Given the description of an element on the screen output the (x, y) to click on. 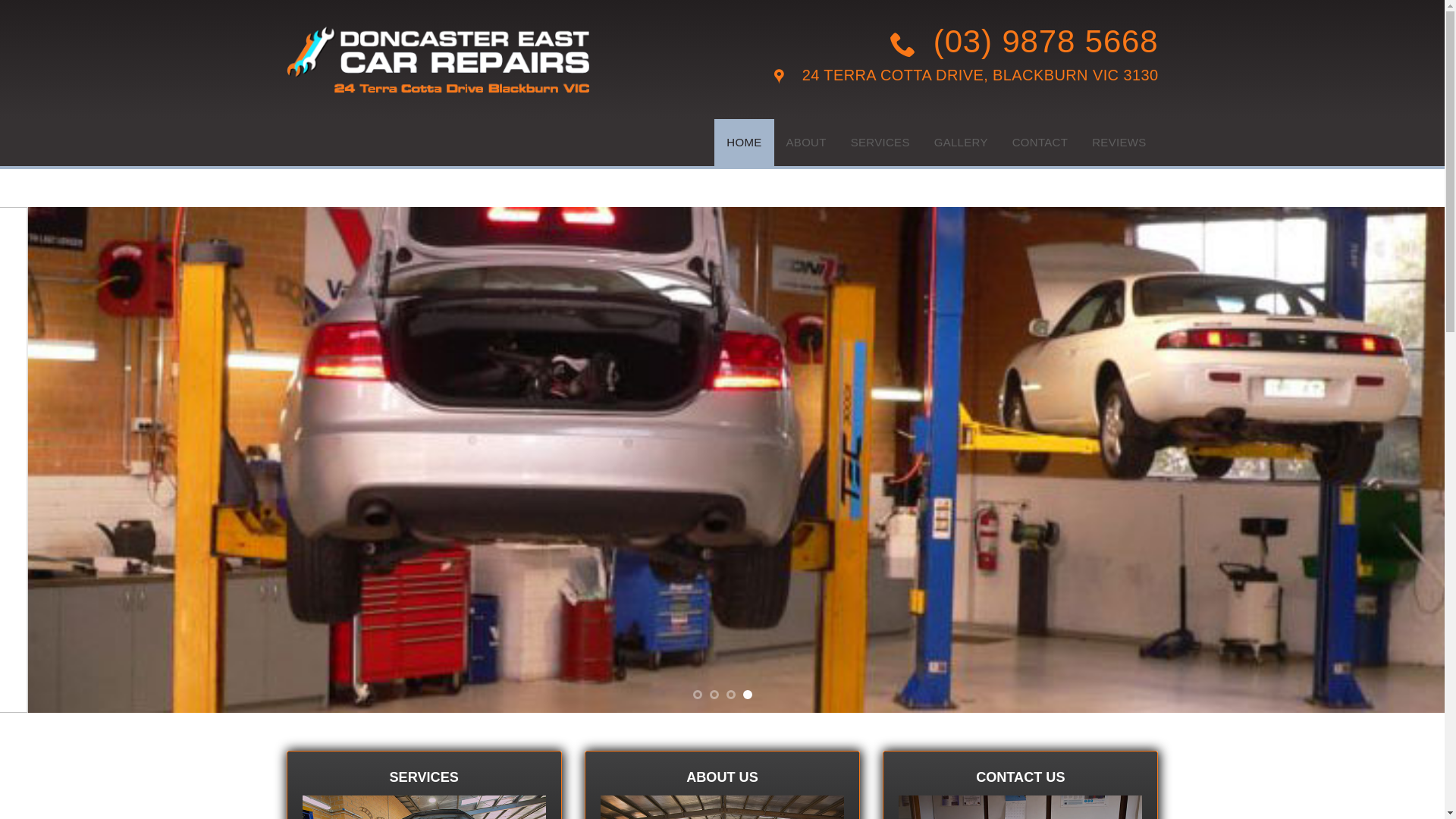
GALLERY Element type: text (961, 142)
SERVICES Element type: text (880, 142)
CONTACT Element type: text (1039, 142)
REVIEWS Element type: text (1118, 142)
(03) 9878 5668 Element type: text (965, 42)
ABOUT Element type: text (806, 142)
HOME Element type: text (743, 142)
Doncaster East Car Repairs - Doncaster East Car Repairs Element type: hover (437, 58)
24 TERRA COTTA DRIVE, BLACKBURN VIC 3130 Element type: text (965, 76)
